Given the description of an element on the screen output the (x, y) to click on. 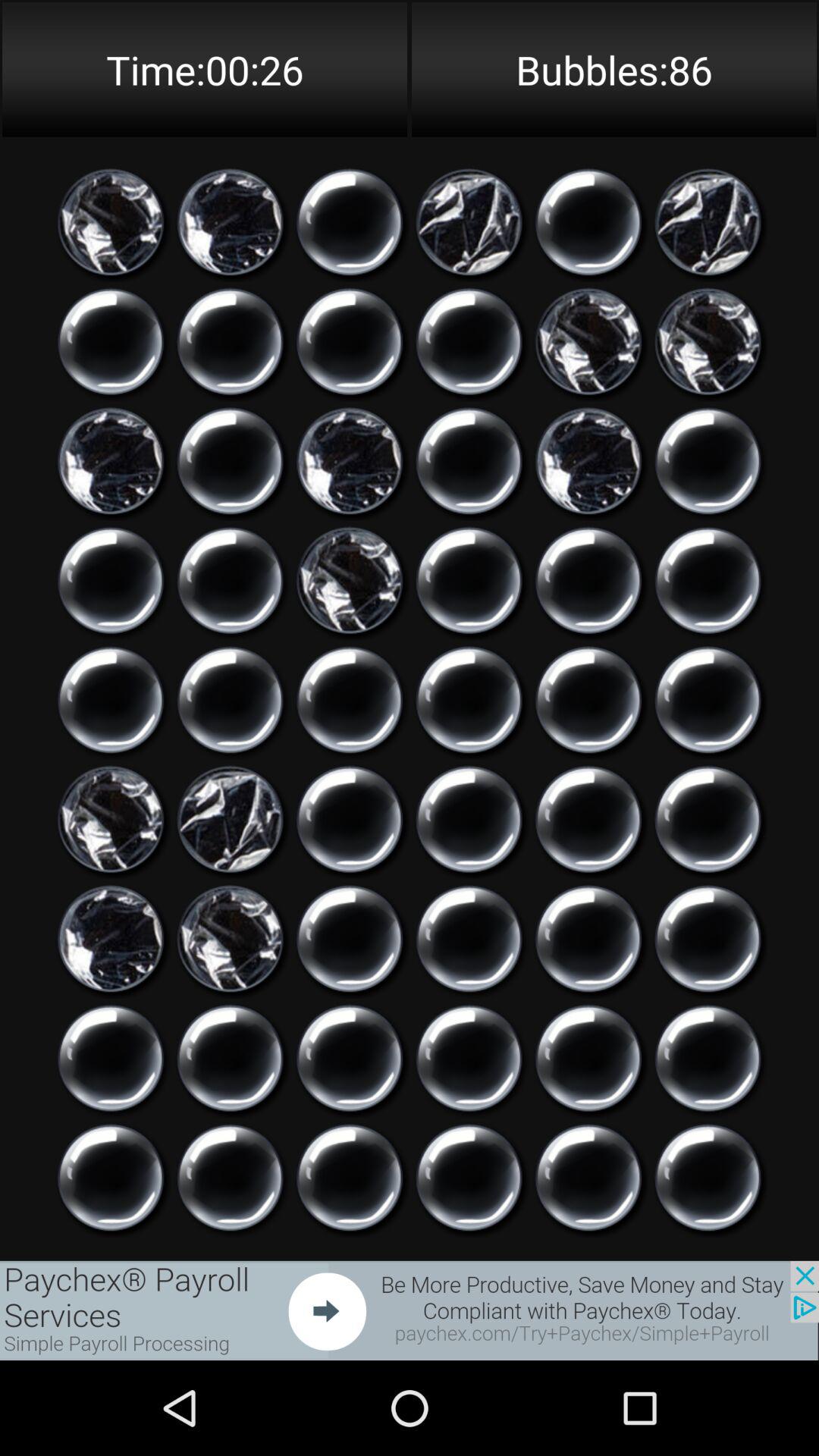
burst bubble (588, 819)
